Given the description of an element on the screen output the (x, y) to click on. 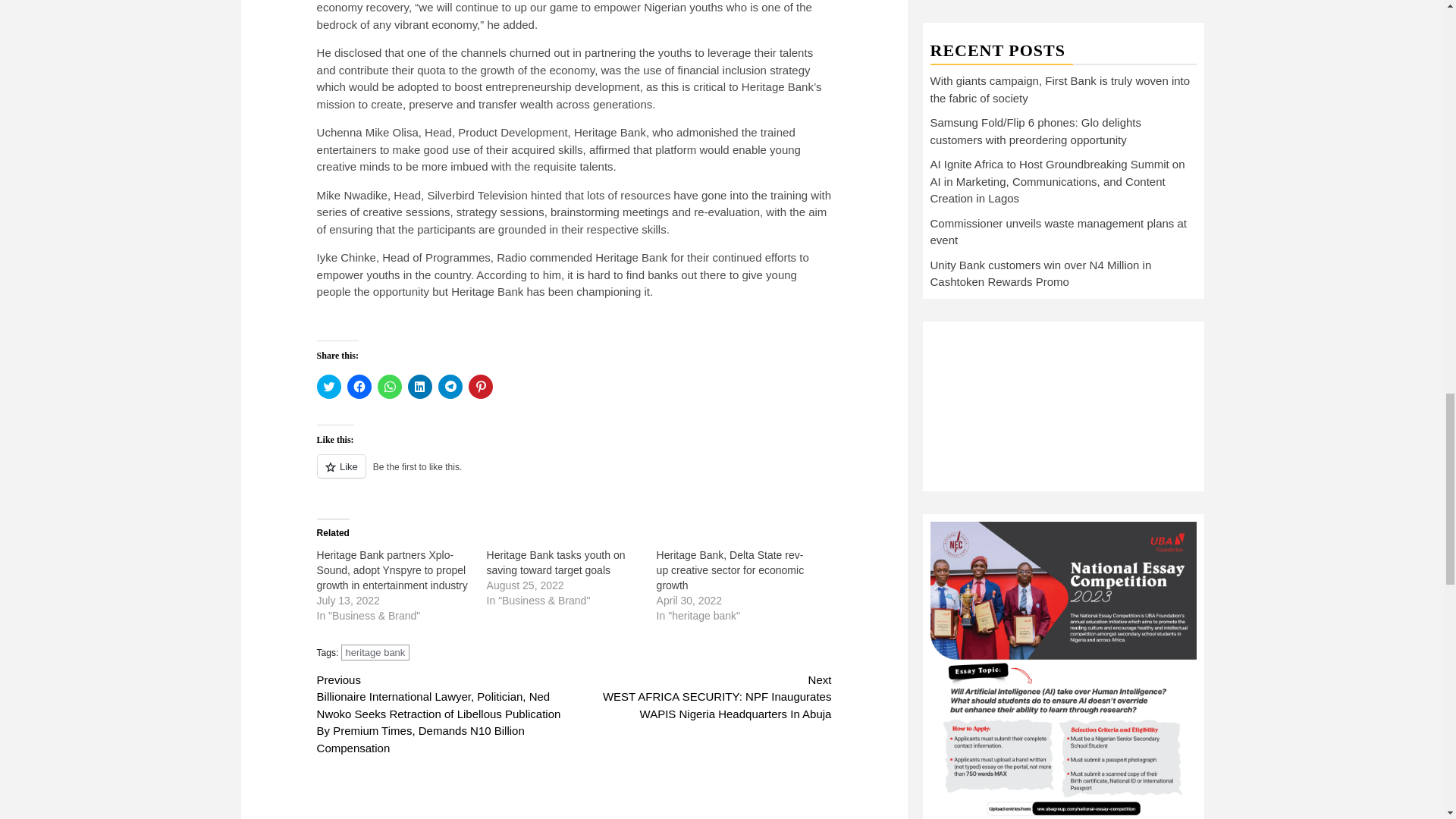
Click to share on Facebook (359, 386)
Like or Reblog (574, 475)
Click to share on Twitter (328, 386)
Click to share on LinkedIn (419, 386)
Click to share on WhatsApp (389, 386)
Click to share on Pinterest (480, 386)
Heritage Bank tasks youth on saving toward target goals (556, 562)
Click to share on Telegram (450, 386)
Heritage Bank tasks youth on saving toward target goals (556, 562)
